Given the description of an element on the screen output the (x, y) to click on. 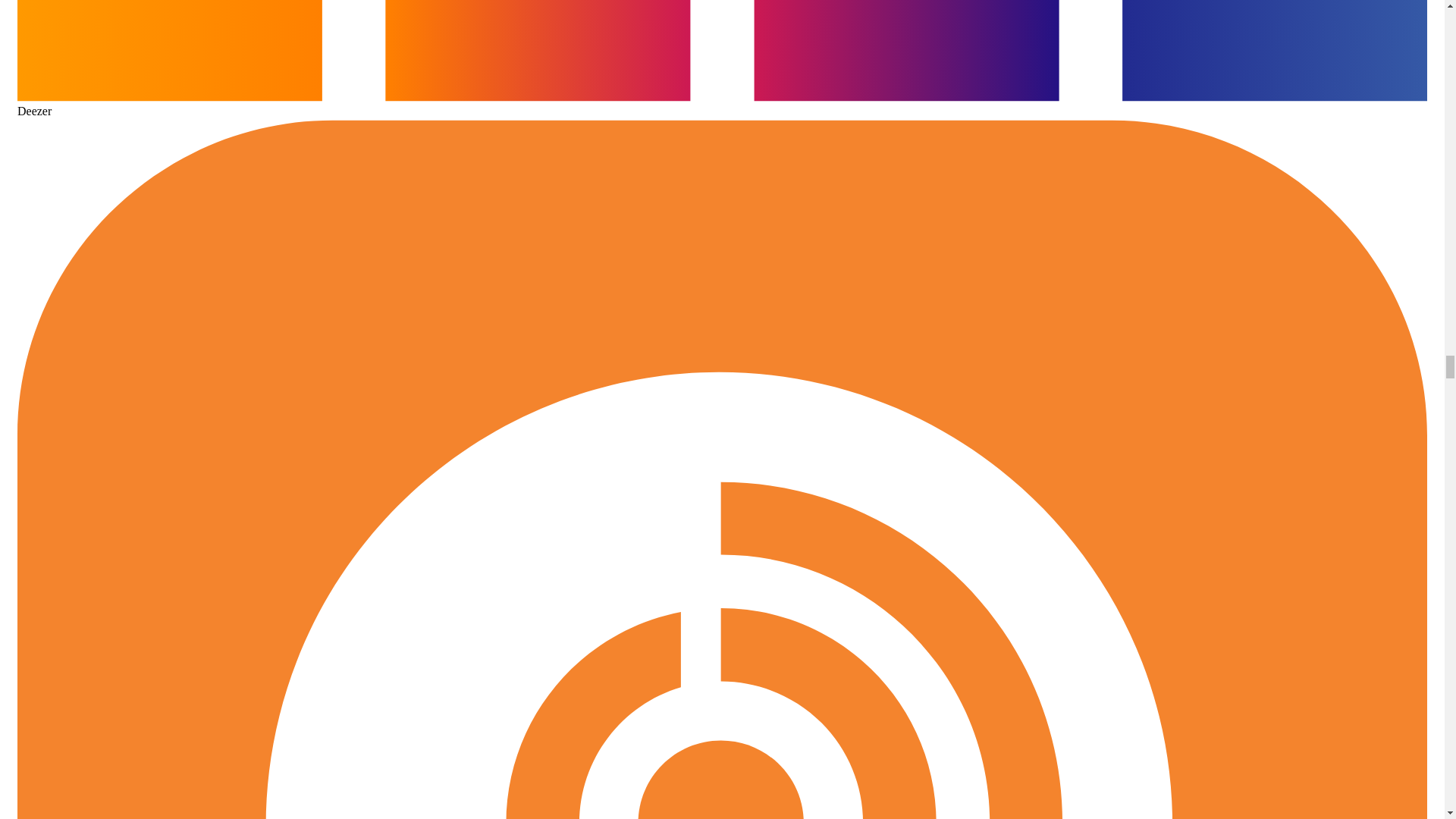
Deezer (721, 103)
